Given the description of an element on the screen output the (x, y) to click on. 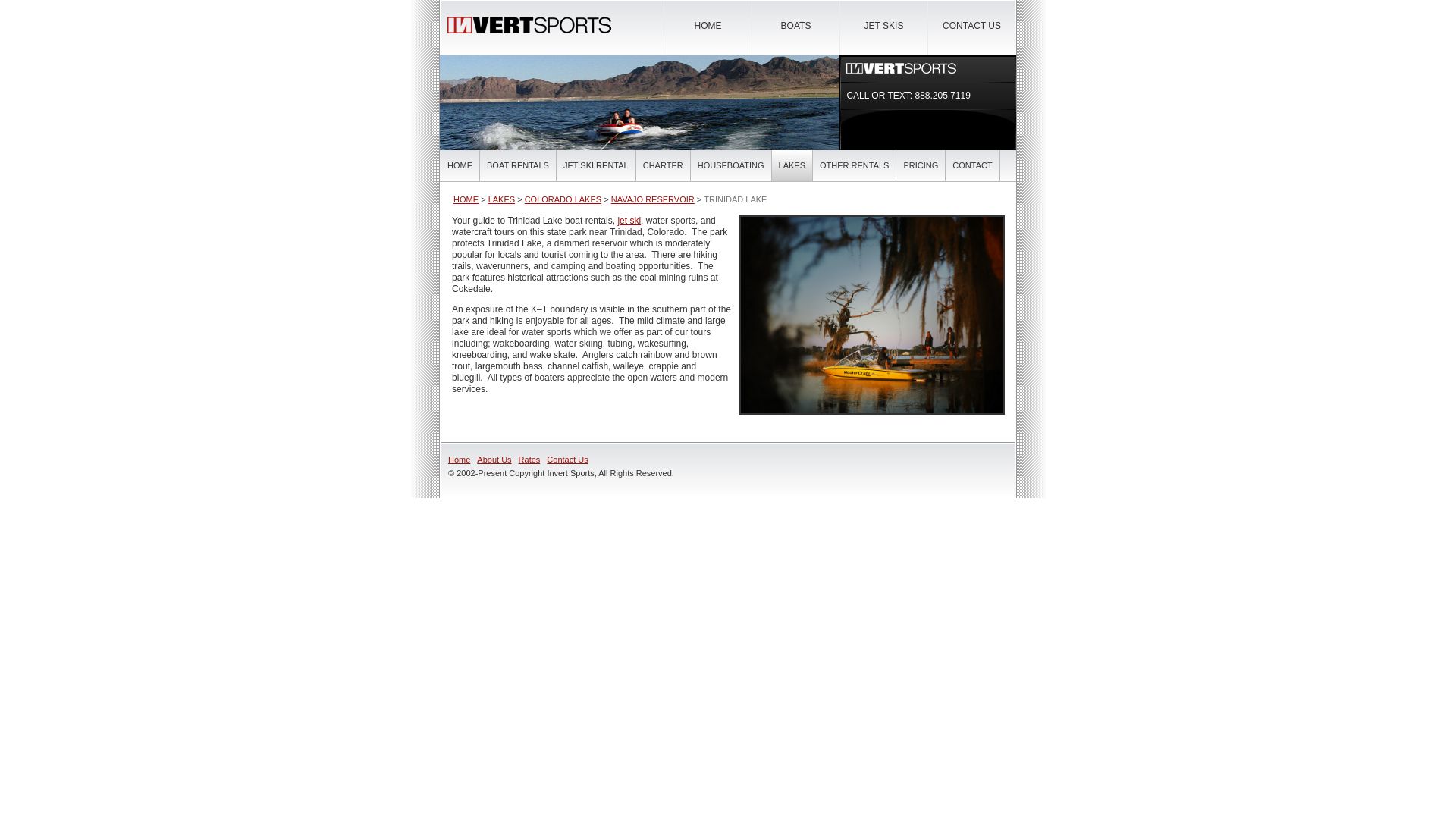
Trinidad Lake (871, 315)
Jet Skis (628, 220)
BOATS (796, 25)
888.205.7119 (941, 95)
CONTACT US (971, 25)
JET SKIS (883, 25)
HOME (707, 25)
HOME (460, 164)
